Given the description of an element on the screen output the (x, y) to click on. 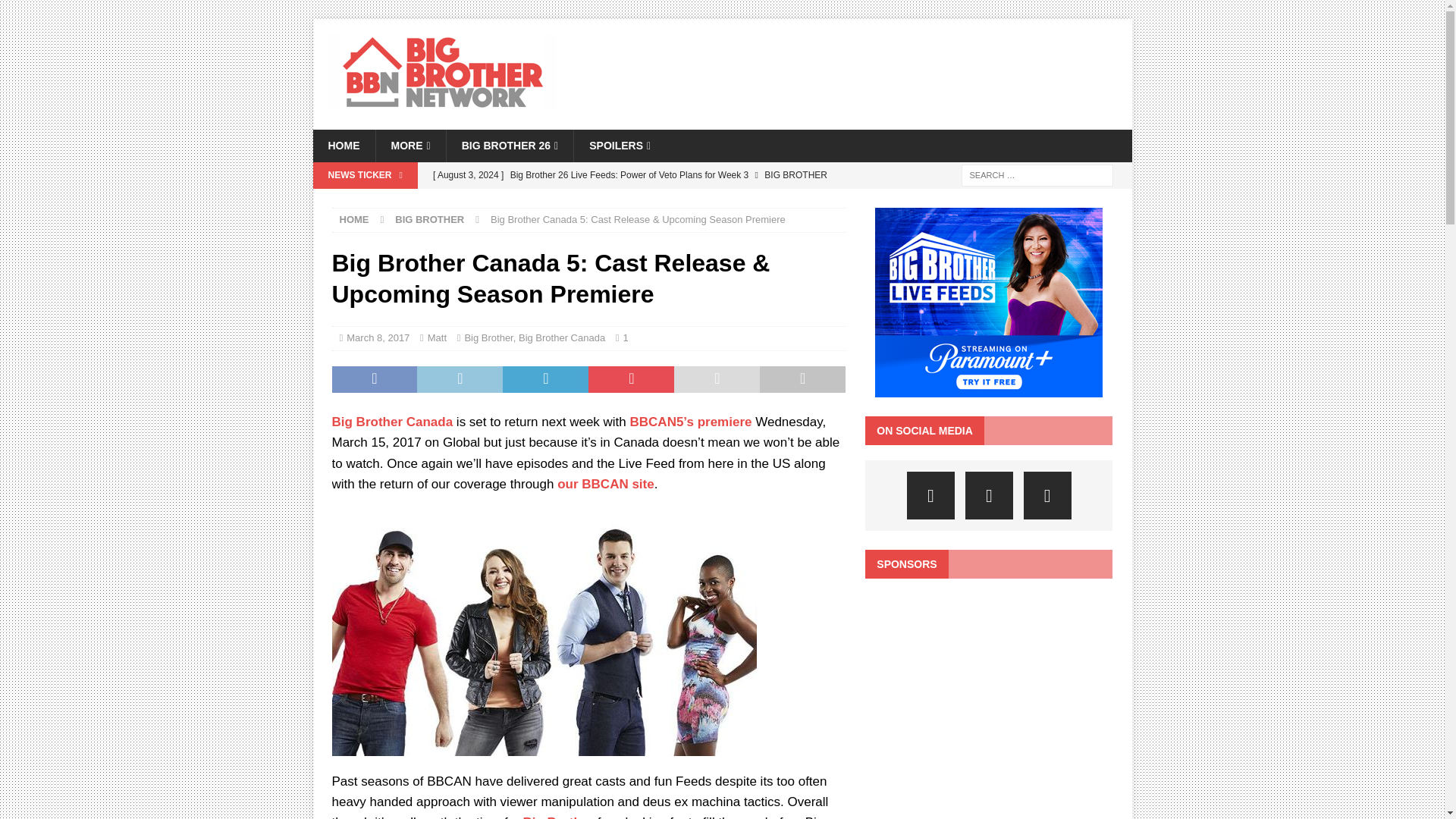
MORE (409, 145)
BIG BROTHER 26 (509, 145)
Big Brother 26 Live Feeds: Power of Veto Plans for Week 3 (634, 187)
HOME (343, 145)
